Given the description of an element on the screen output the (x, y) to click on. 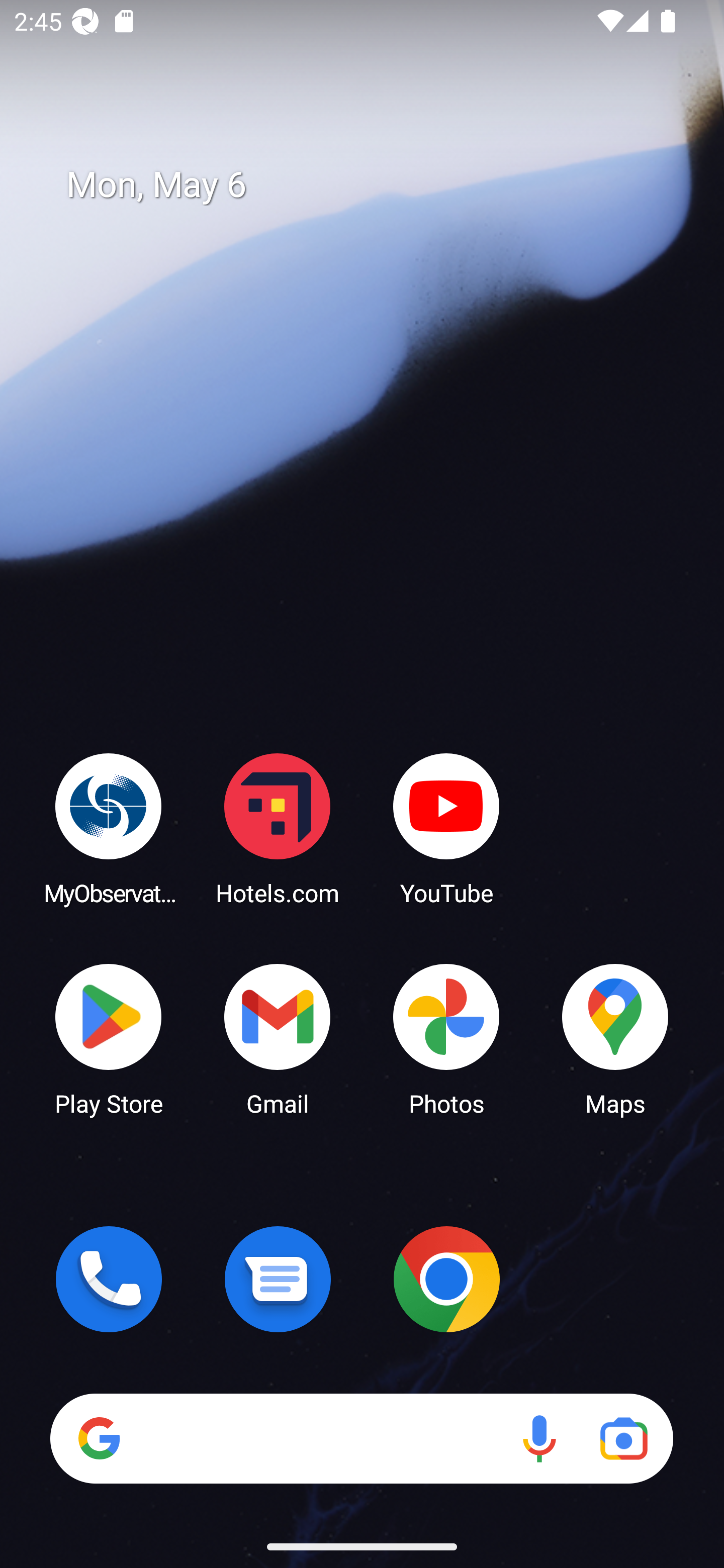
Mon, May 6 (375, 184)
MyObservatory (108, 828)
Hotels.com (277, 828)
YouTube (445, 828)
Play Store (108, 1038)
Gmail (277, 1038)
Photos (445, 1038)
Maps (615, 1038)
Phone (108, 1279)
Messages (277, 1279)
Chrome (446, 1279)
Search Voice search Google Lens (361, 1438)
Voice search (539, 1438)
Google Lens (623, 1438)
